Given the description of an element on the screen output the (x, y) to click on. 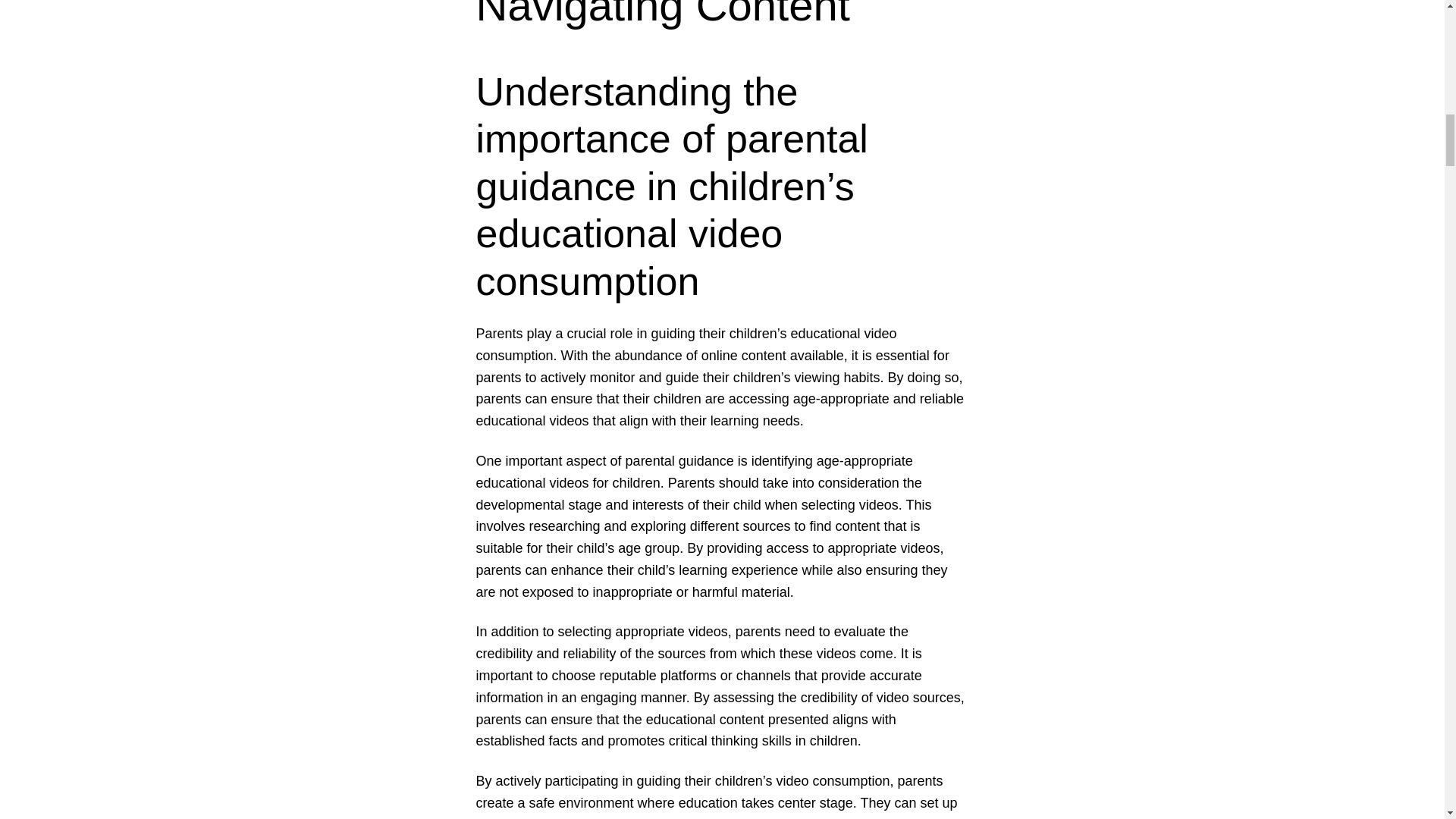
parental control (523, 818)
parental control (523, 818)
